Given the description of an element on the screen output the (x, y) to click on. 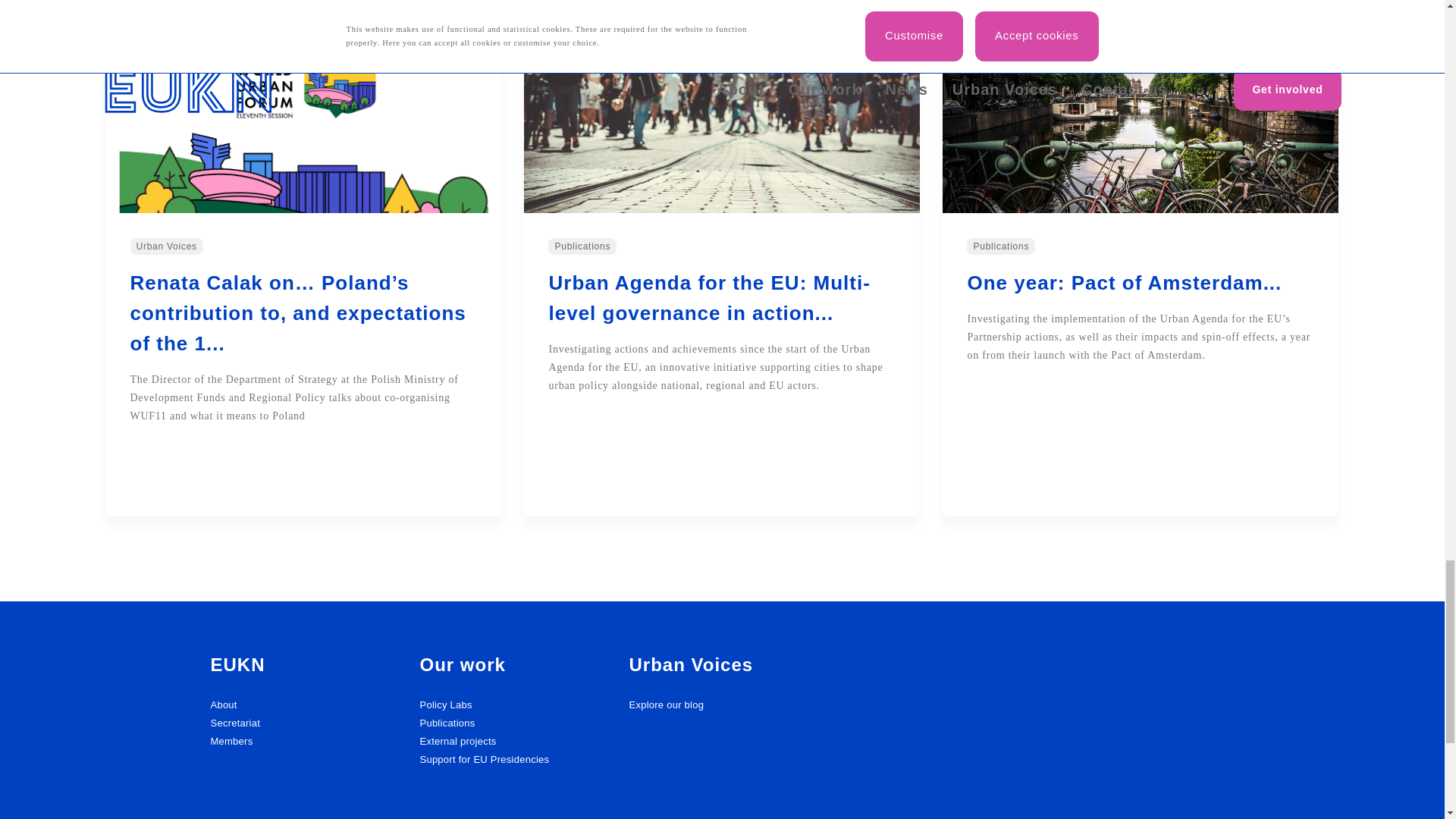
Policy Labs (445, 704)
External projects (457, 740)
Support for EU Presidencies (483, 758)
Secretariat (234, 722)
About (222, 704)
Members (230, 740)
Explore our blog (665, 704)
Publications (446, 722)
